Given the description of an element on the screen output the (x, y) to click on. 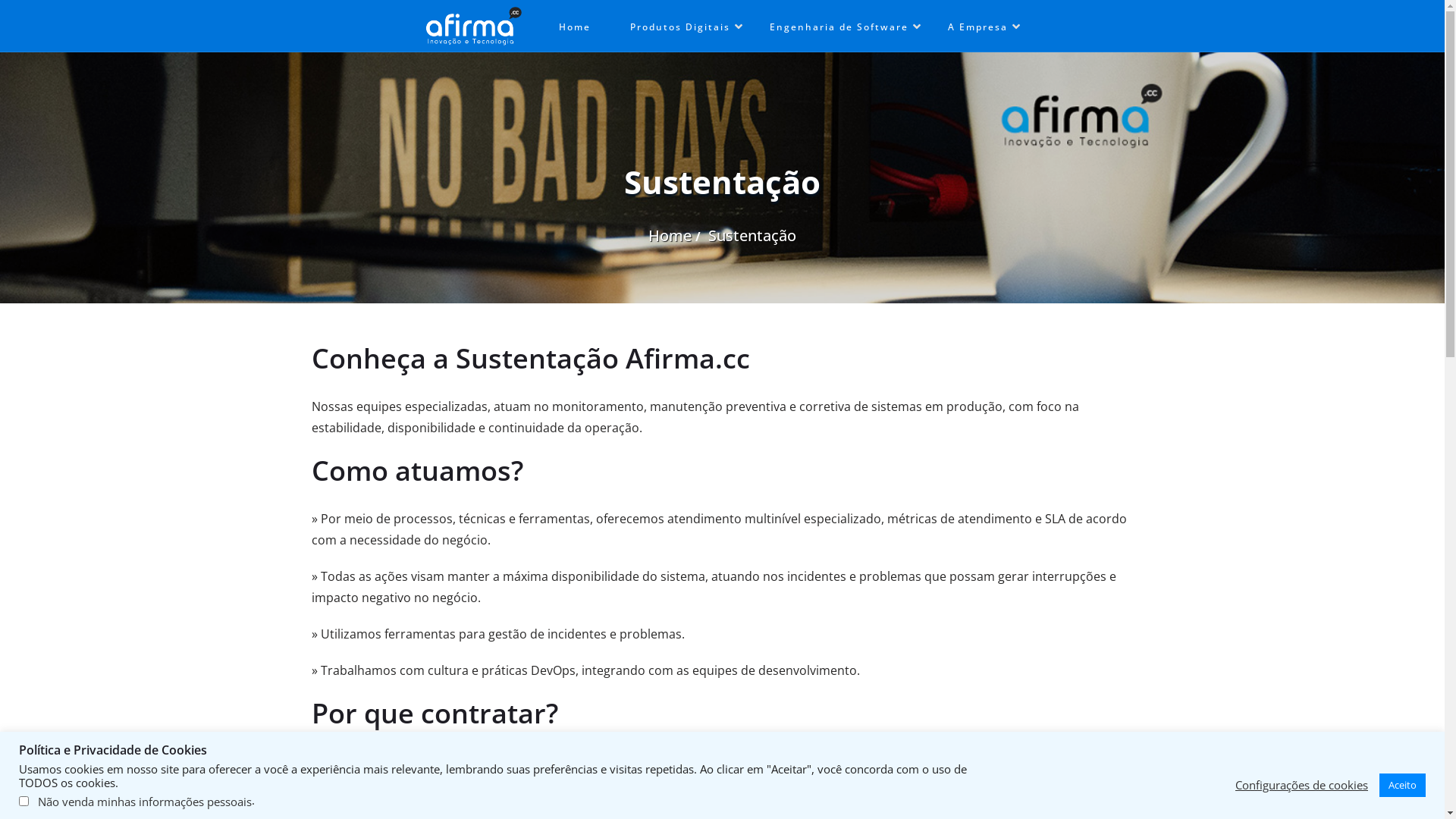
Aceito Element type: text (1402, 785)
Home Element type: text (669, 234)
A Empresa Element type: text (977, 26)
Produtos Digitais Element type: text (680, 26)
                    Element type: text (472, 26)
Engenharia de Software Element type: text (838, 26)
SHOW A EMPRESA SUBMENU
HIDE A EMPRESA SUBMENU Element type: text (1016, 26)
Home Element type: text (574, 26)
